Given the description of an element on the screen output the (x, y) to click on. 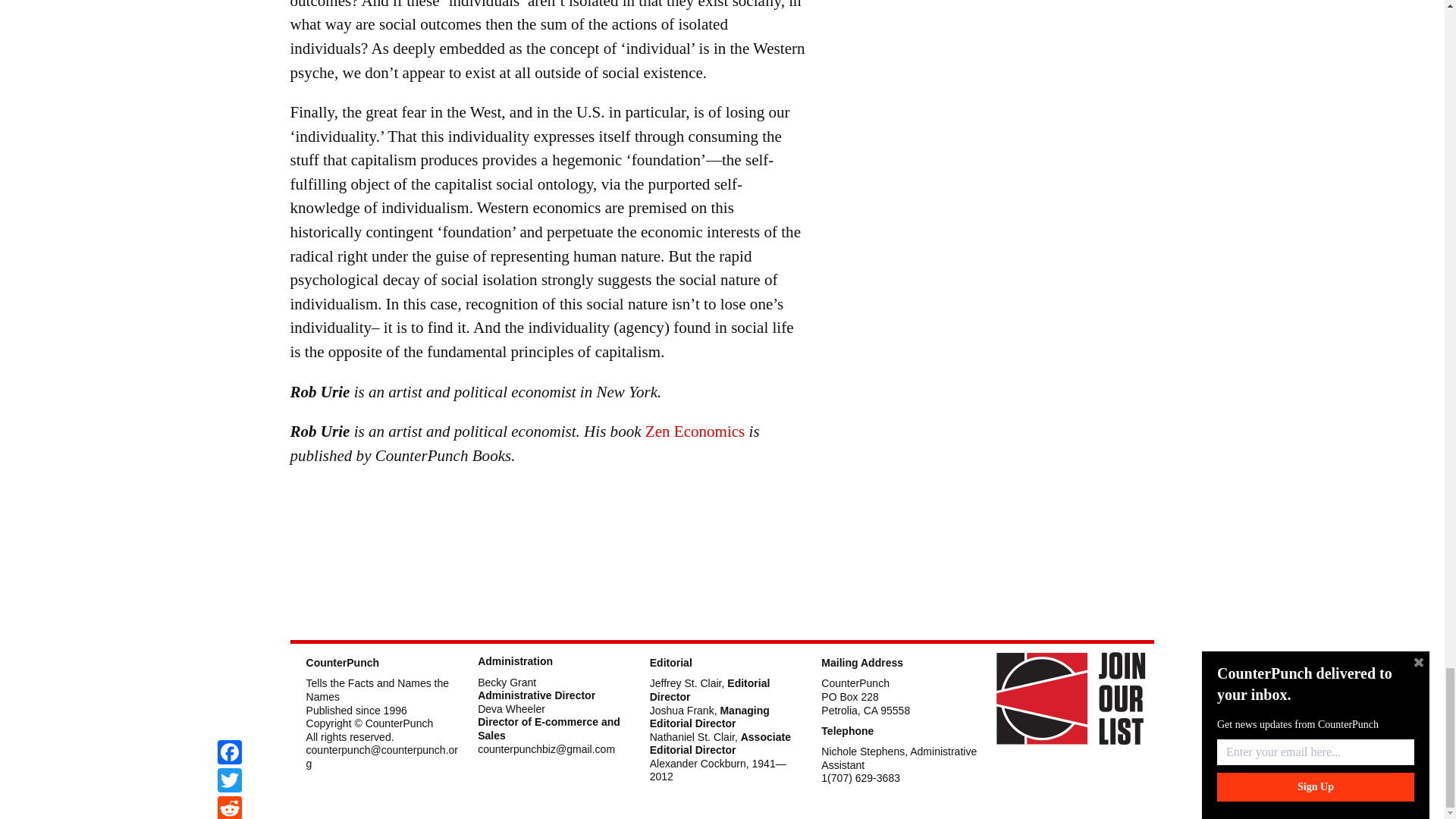
Zen Economics (695, 431)
